Given the description of an element on the screen output the (x, y) to click on. 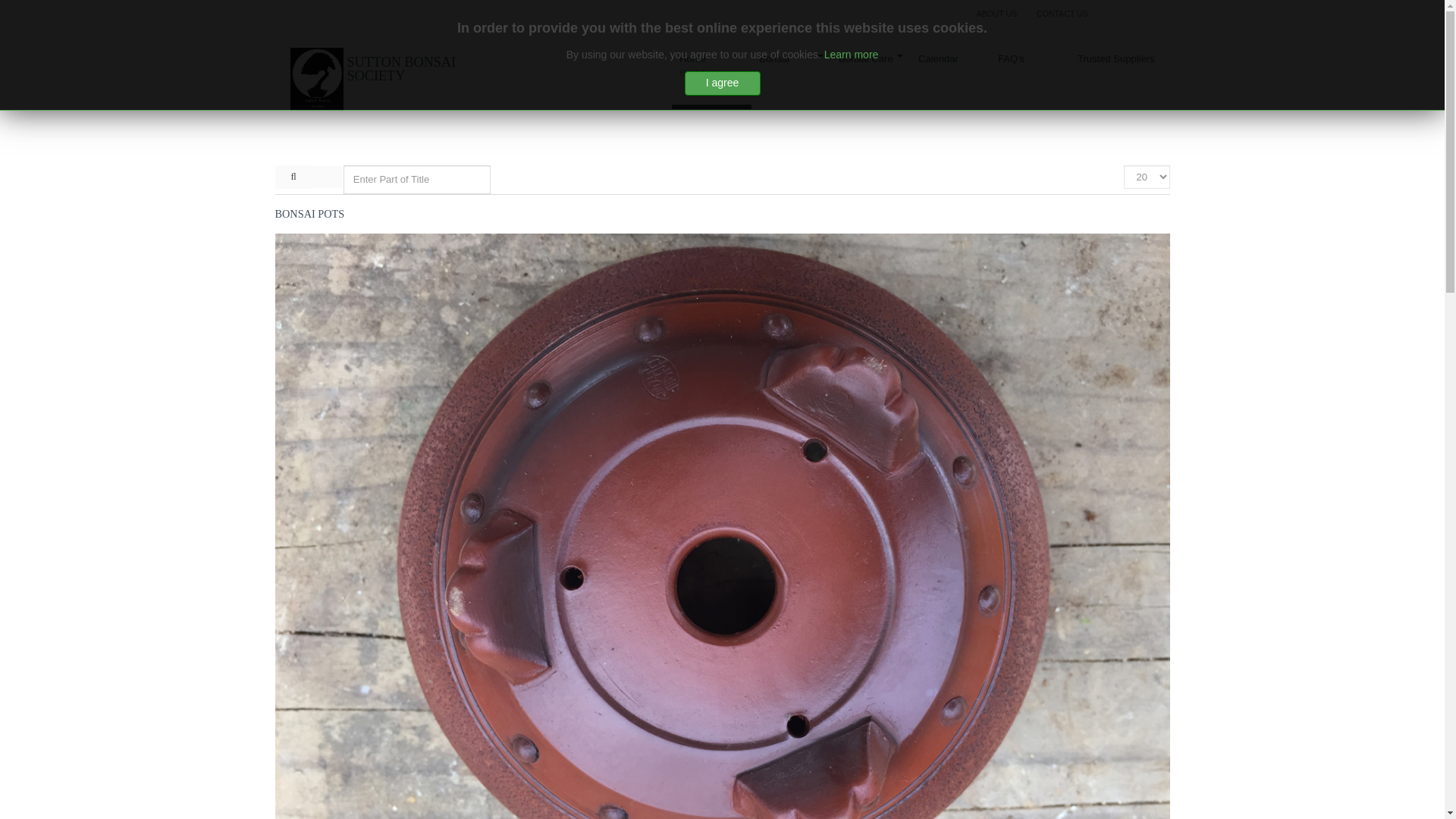
BONSAI POTS (711, 79)
Search (309, 214)
Enter all or part of the title to search for. (1112, 79)
CONTACT US (293, 177)
ABOUT US (416, 179)
Clear (1061, 13)
